Given the description of an element on the screen output the (x, y) to click on. 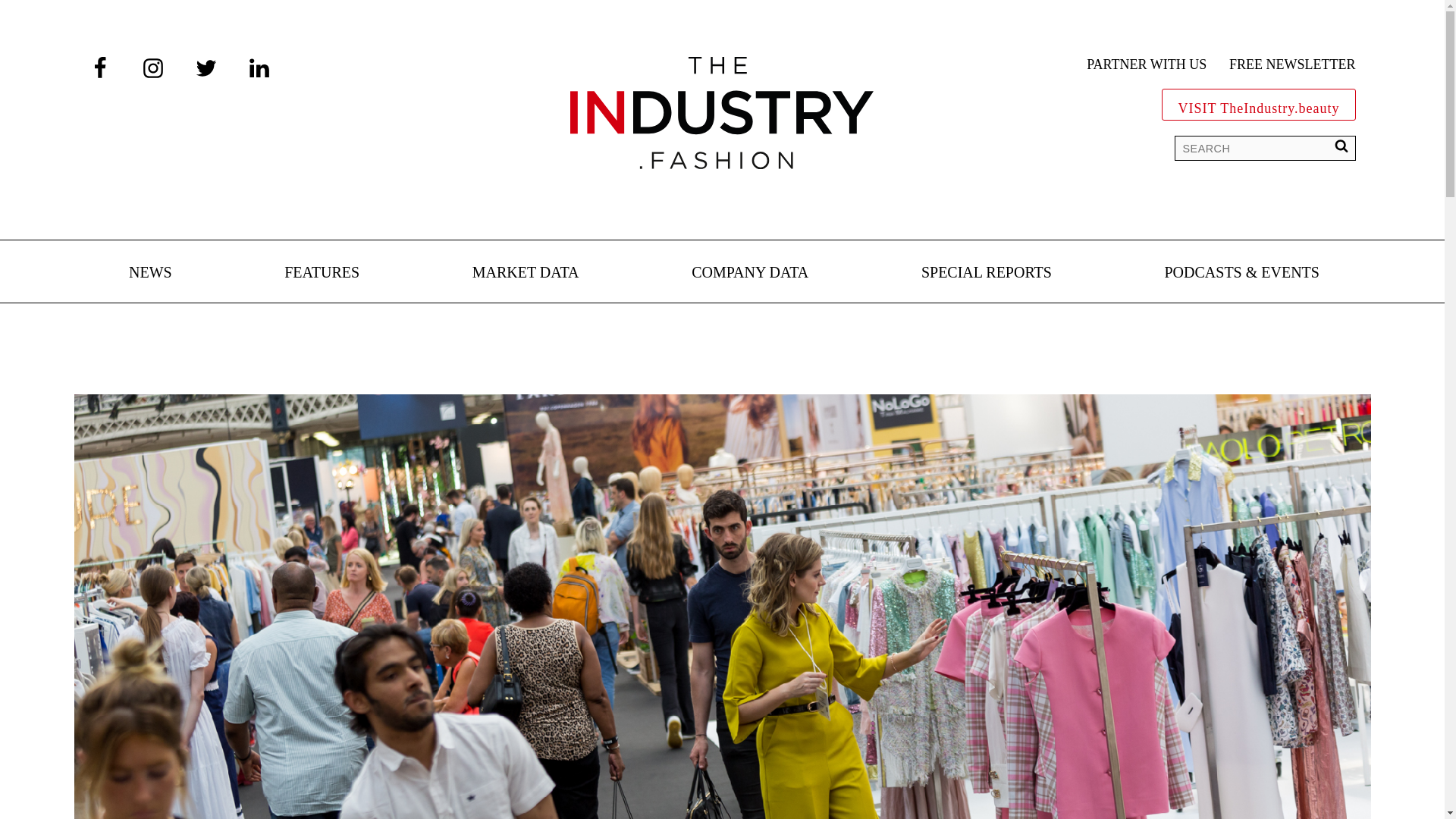
Go (22, 15)
PARTNER WITH US (1146, 64)
FREE NEWSLETTER (1291, 64)
FEATURES (321, 273)
VISIT TheIndustry.beauty (1258, 104)
COMPANY DATA (749, 273)
NEWS (150, 273)
SPECIAL REPORTS (986, 273)
MARKET DATA (525, 273)
